Given the description of an element on the screen output the (x, y) to click on. 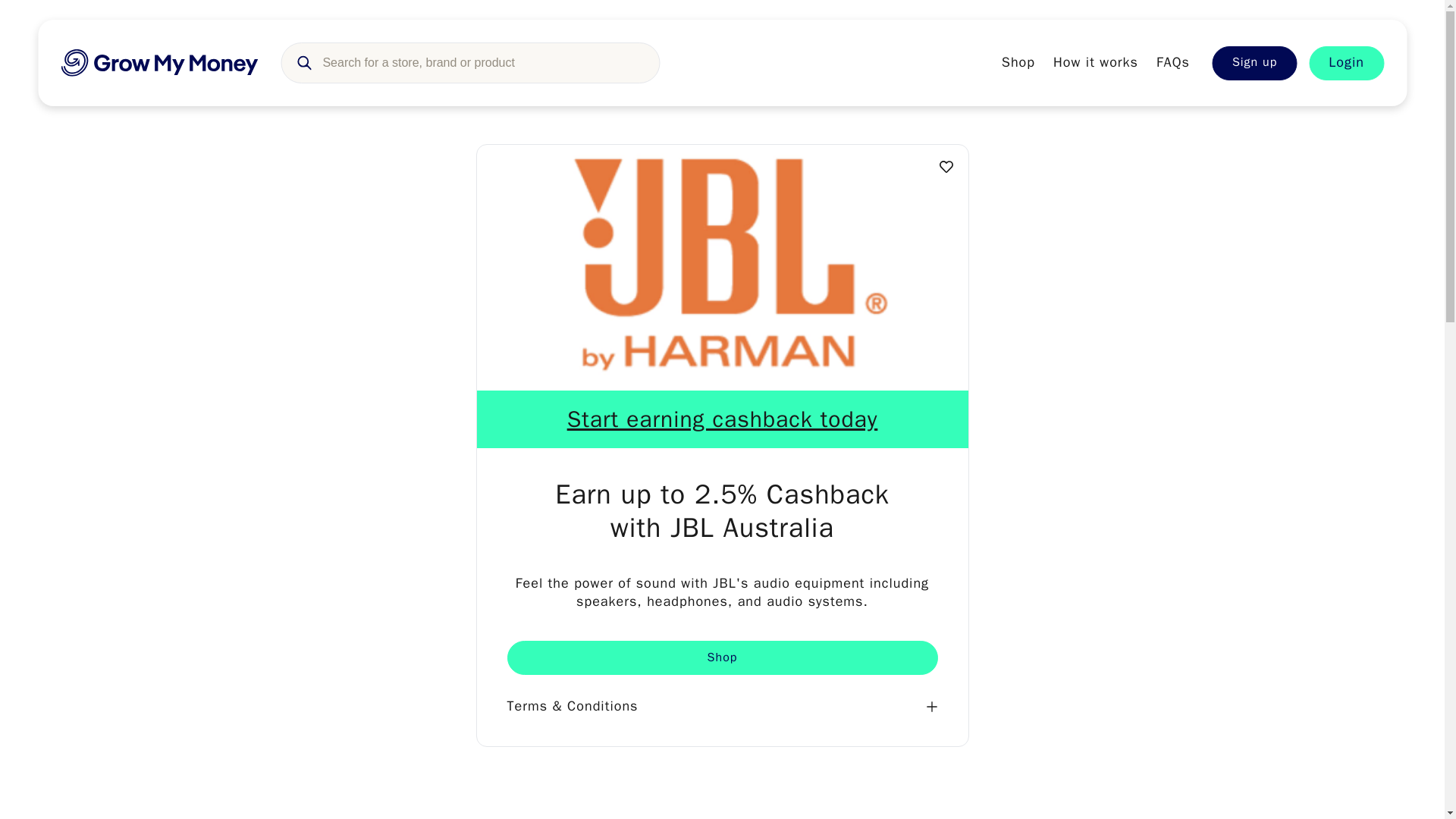
Start earning cashback today (722, 419)
Sign up (1254, 62)
FAQs (1172, 62)
Shop (721, 657)
Login (1346, 62)
Shop (1018, 62)
How it works (1095, 62)
